Given the description of an element on the screen output the (x, y) to click on. 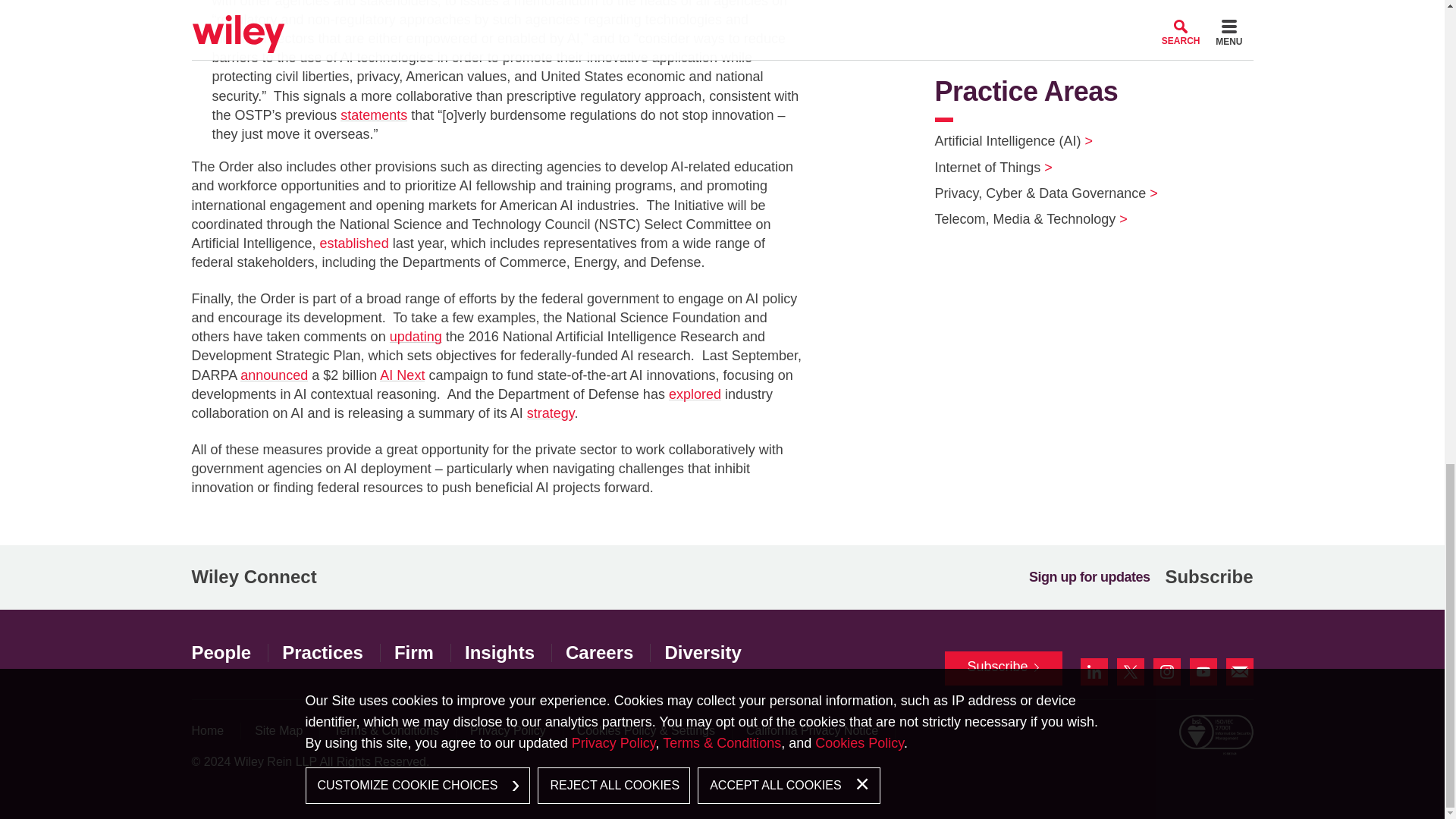
Contact Us (1238, 671)
